Given the description of an element on the screen output the (x, y) to click on. 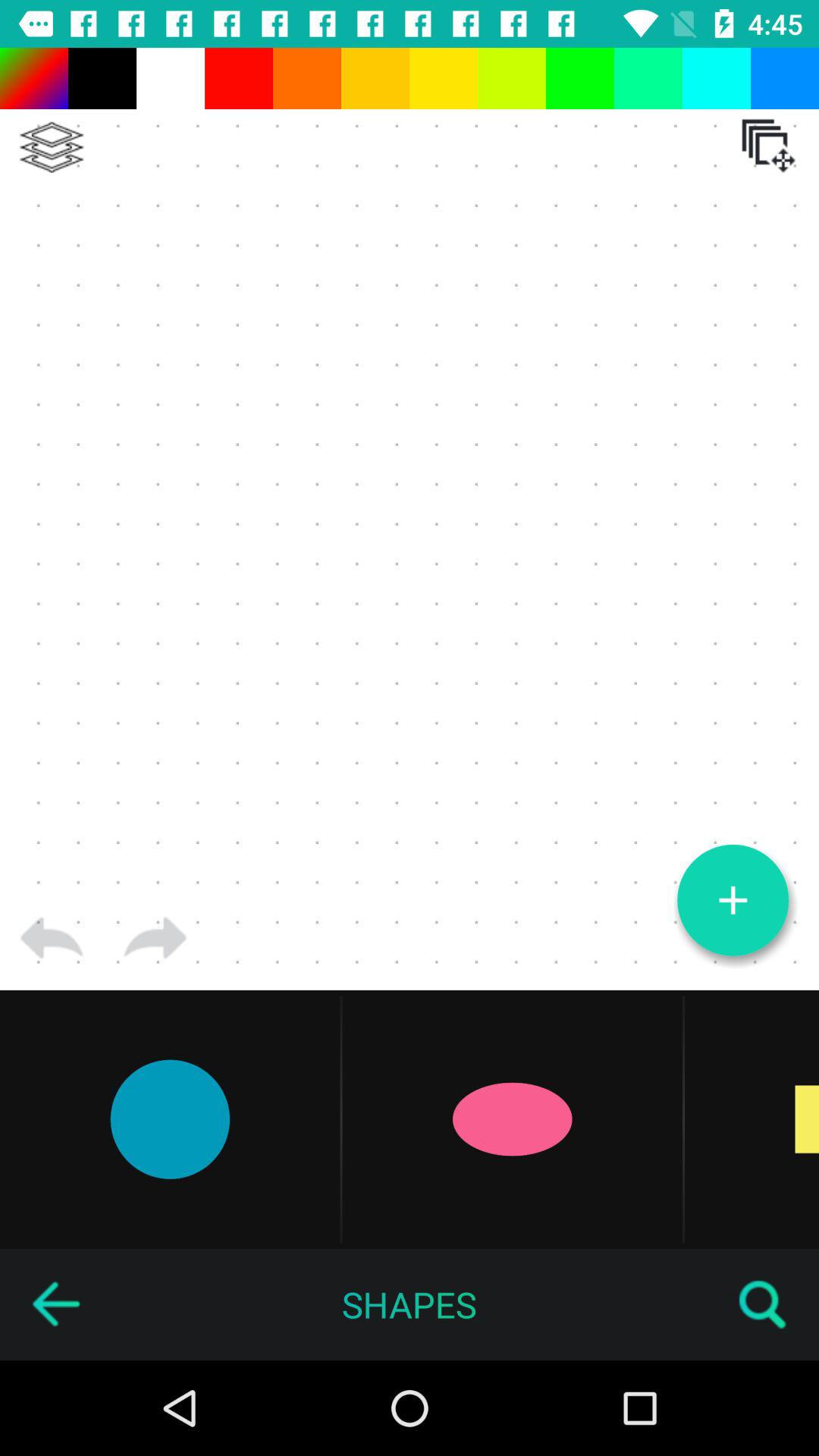
go to previous screen (55, 1304)
